Given the description of an element on the screen output the (x, y) to click on. 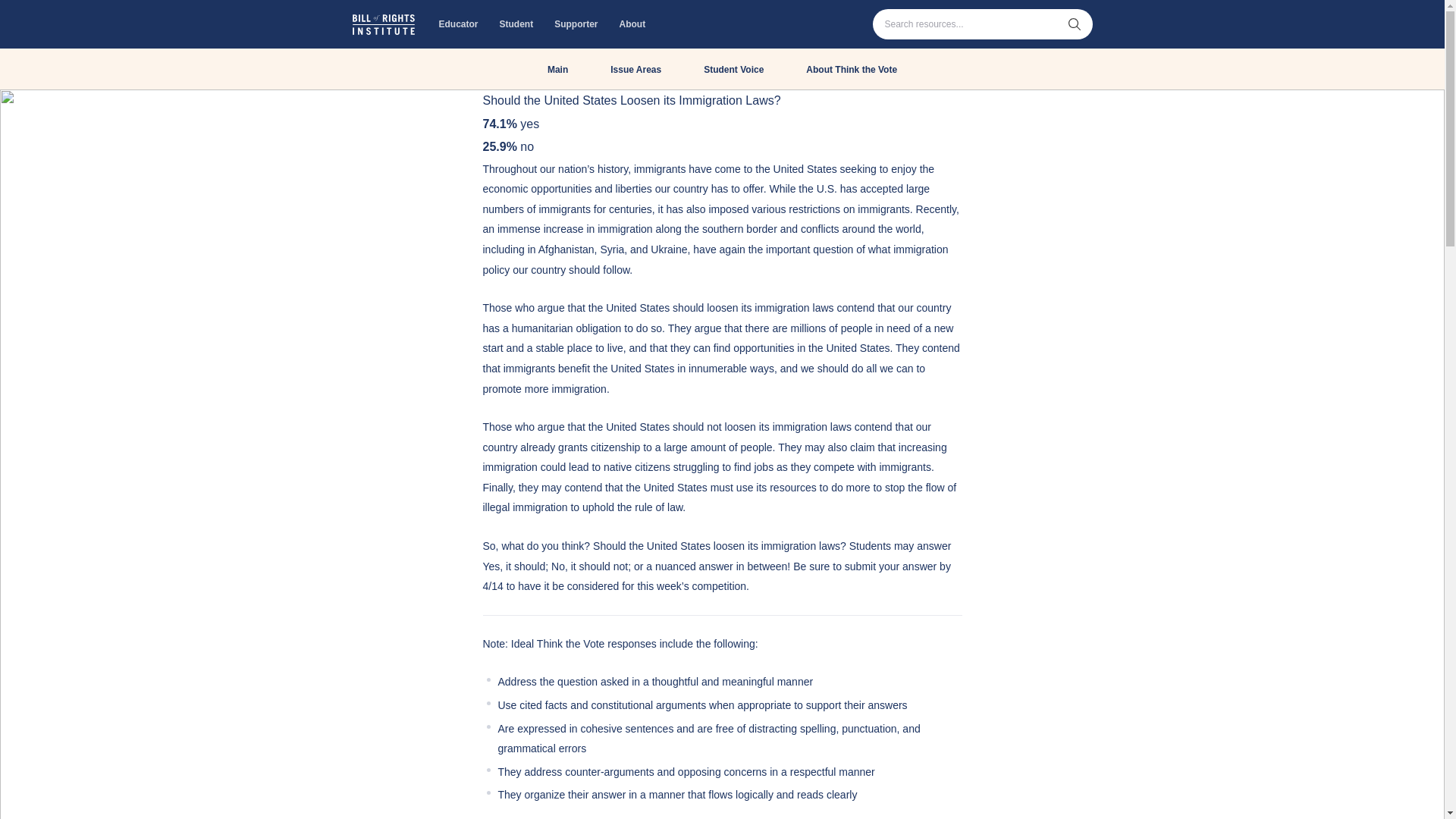
Submit Search Query. (1073, 24)
Student (516, 24)
Educator (457, 24)
